Given the description of an element on the screen output the (x, y) to click on. 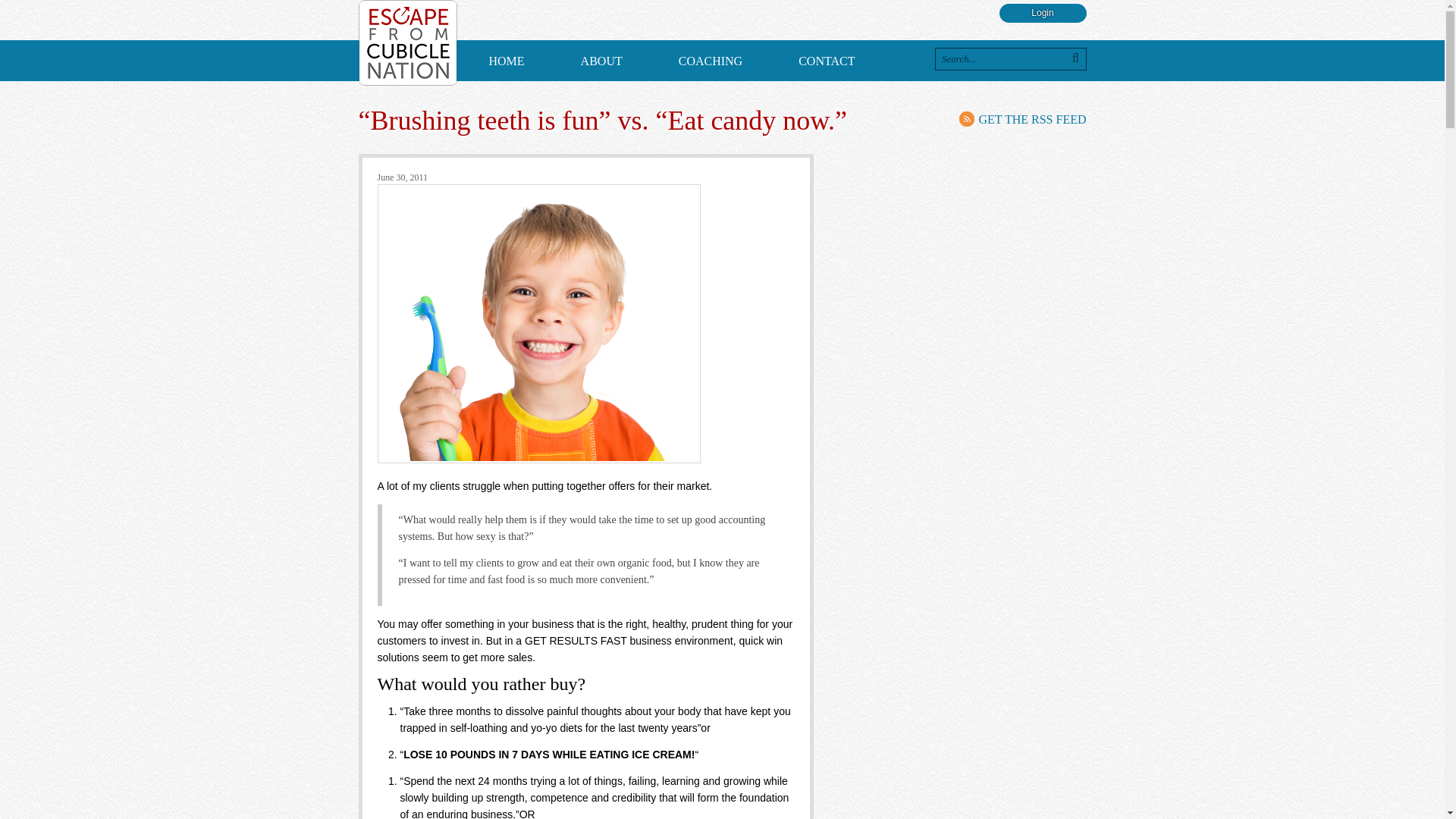
COACHING (710, 62)
Login (1042, 13)
HOME (507, 62)
About (601, 62)
Contact (826, 62)
CONTACT (826, 62)
Coaching (710, 62)
boy cleans a teeth (538, 323)
Home (507, 62)
Escape From Cubicle Nation (407, 42)
ABOUT (601, 62)
GET THE RSS FEED (1022, 118)
